Given the description of an element on the screen output the (x, y) to click on. 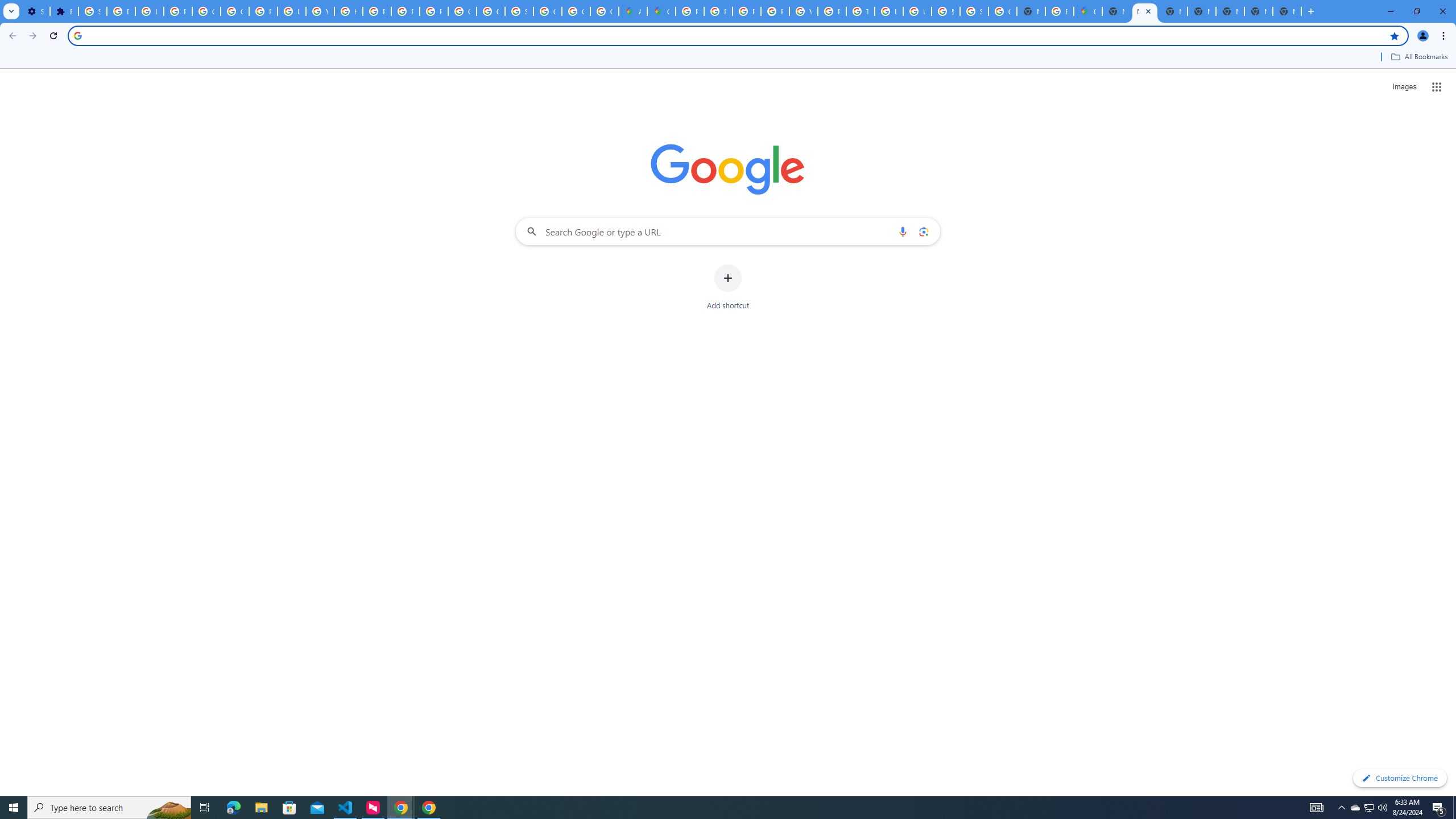
Policy Accountability and Transparency - Transparency Center (690, 11)
Tips & tricks for Chrome - Google Chrome Help (860, 11)
Explore new street-level details - Google Maps Help (1058, 11)
Google Maps (661, 11)
Sign in - Google Accounts (518, 11)
